Given the description of an element on the screen output the (x, y) to click on. 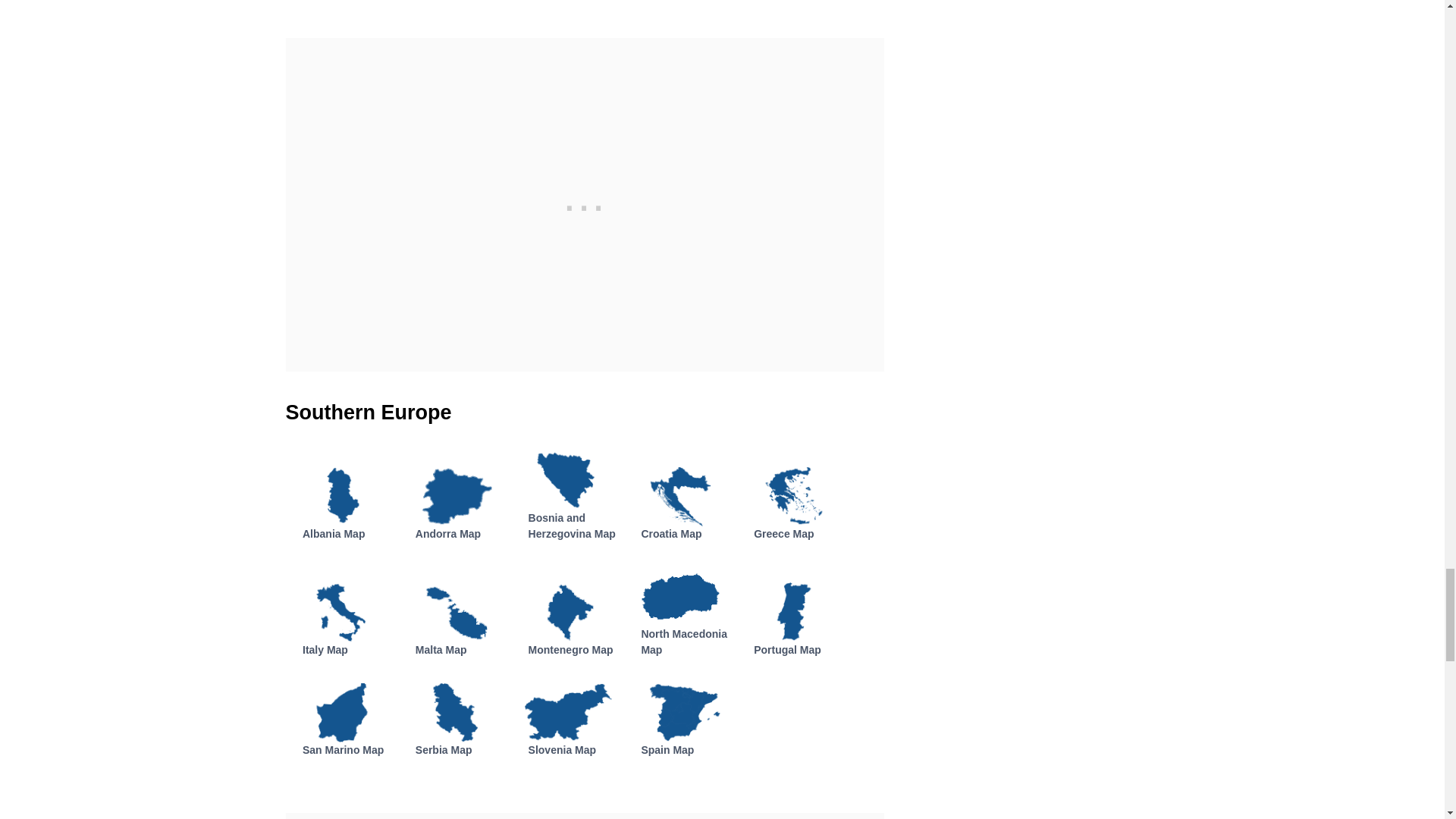
Andorra Map (447, 533)
Albania Map (333, 533)
Bosnia and Herzegovina Map (571, 525)
